Given the description of an element on the screen output the (x, y) to click on. 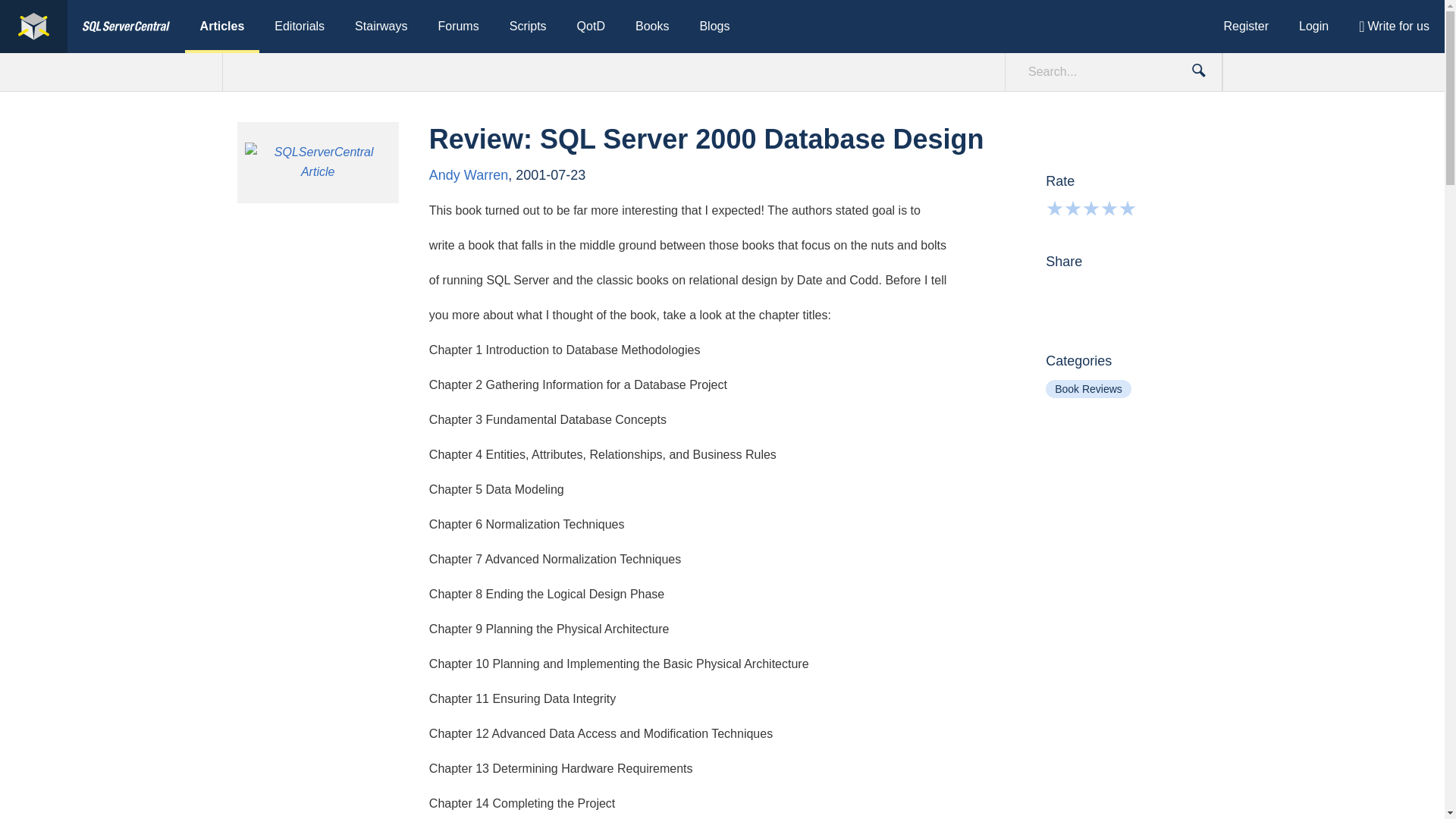
Scripts (528, 26)
Share on LinkedIn (1148, 293)
SQLServerCentral (126, 26)
SQLServerCentral (33, 26)
Email (1058, 293)
Share on Facebook (1088, 293)
Blogs (714, 26)
Stairways (380, 26)
Andy Warren (468, 174)
Tweet (1118, 293)
Register (1246, 26)
Login (1313, 26)
Books (652, 26)
QotD (591, 26)
Print (1179, 293)
